Given the description of an element on the screen output the (x, y) to click on. 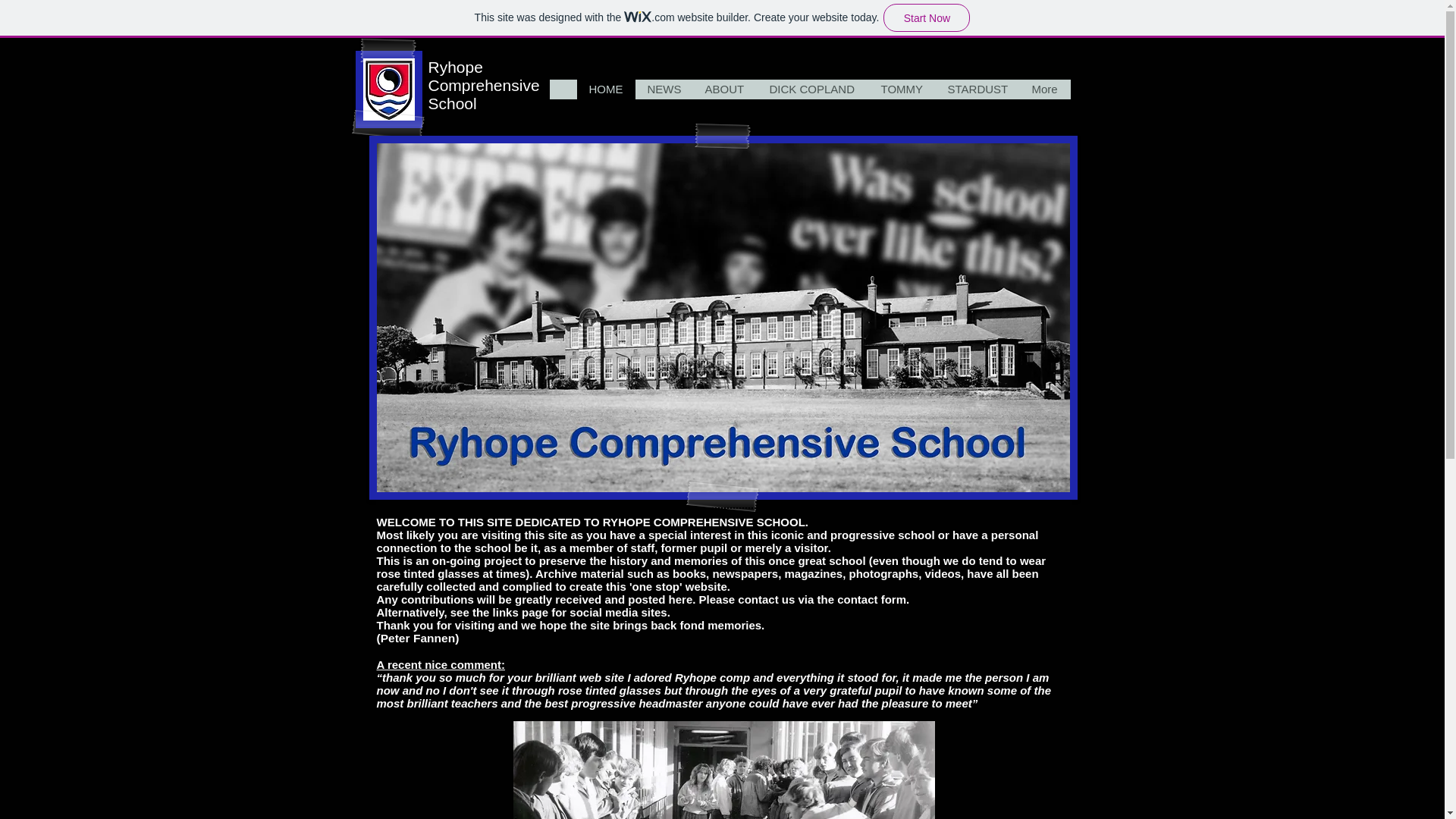
TOMMY (902, 89)
DICK COPLAND (812, 89)
ABOUT (725, 89)
HOME (605, 89)
NEWS (663, 89)
STARDUST (978, 89)
